Given the description of an element on the screen output the (x, y) to click on. 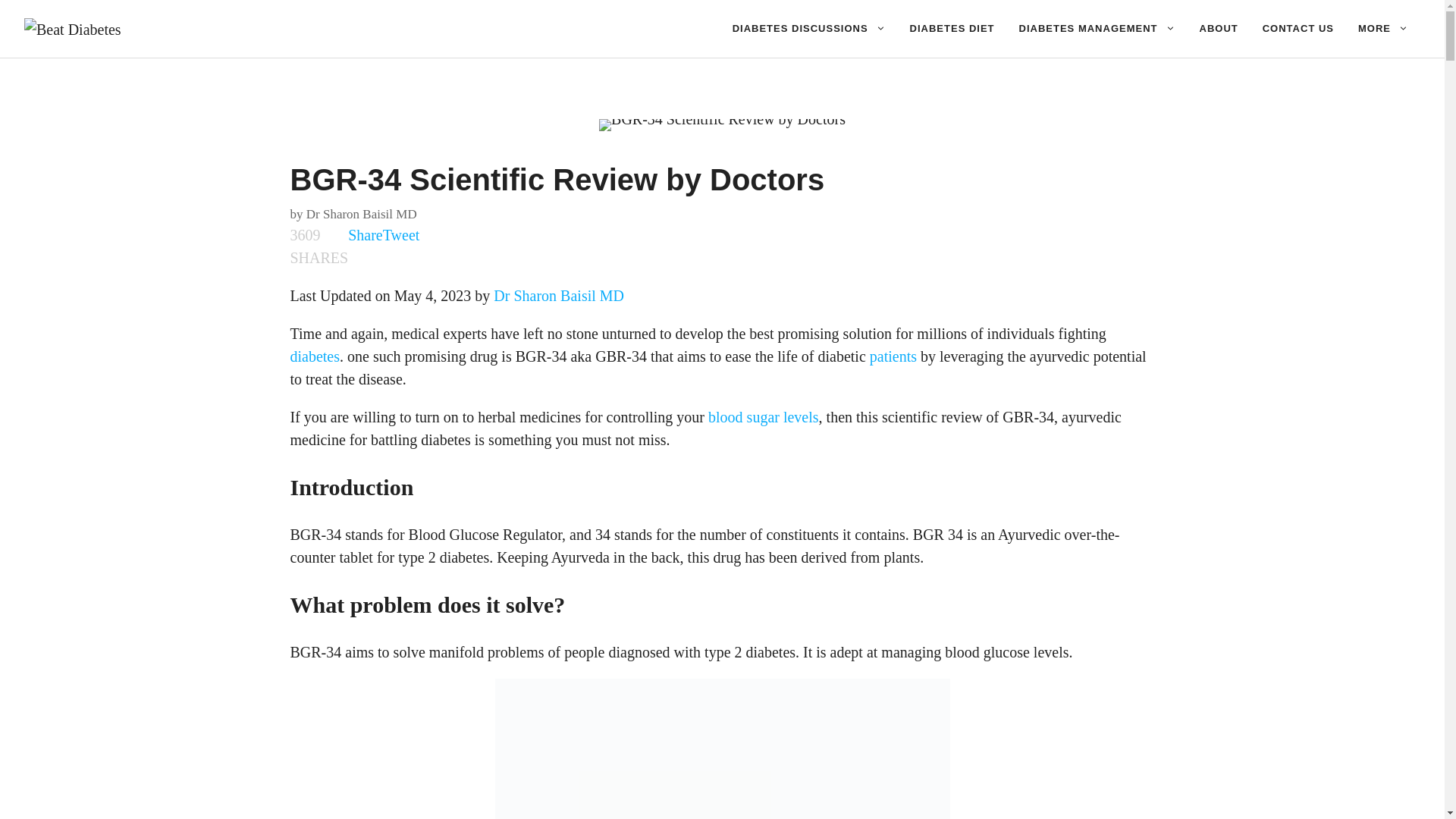
blood sugar levels (762, 416)
DIABETES DIET (952, 28)
BGR-34 Scientific Review by Doctors 1 (721, 124)
Share (364, 234)
DIABETES MANAGEMENT (1097, 28)
MORE (1383, 28)
View all posts by Dr Sharon Baisil MD (360, 213)
Dr Sharon Baisil MD (360, 213)
CONTACT US (1297, 28)
ABOUT (1219, 28)
